Given the description of an element on the screen output the (x, y) to click on. 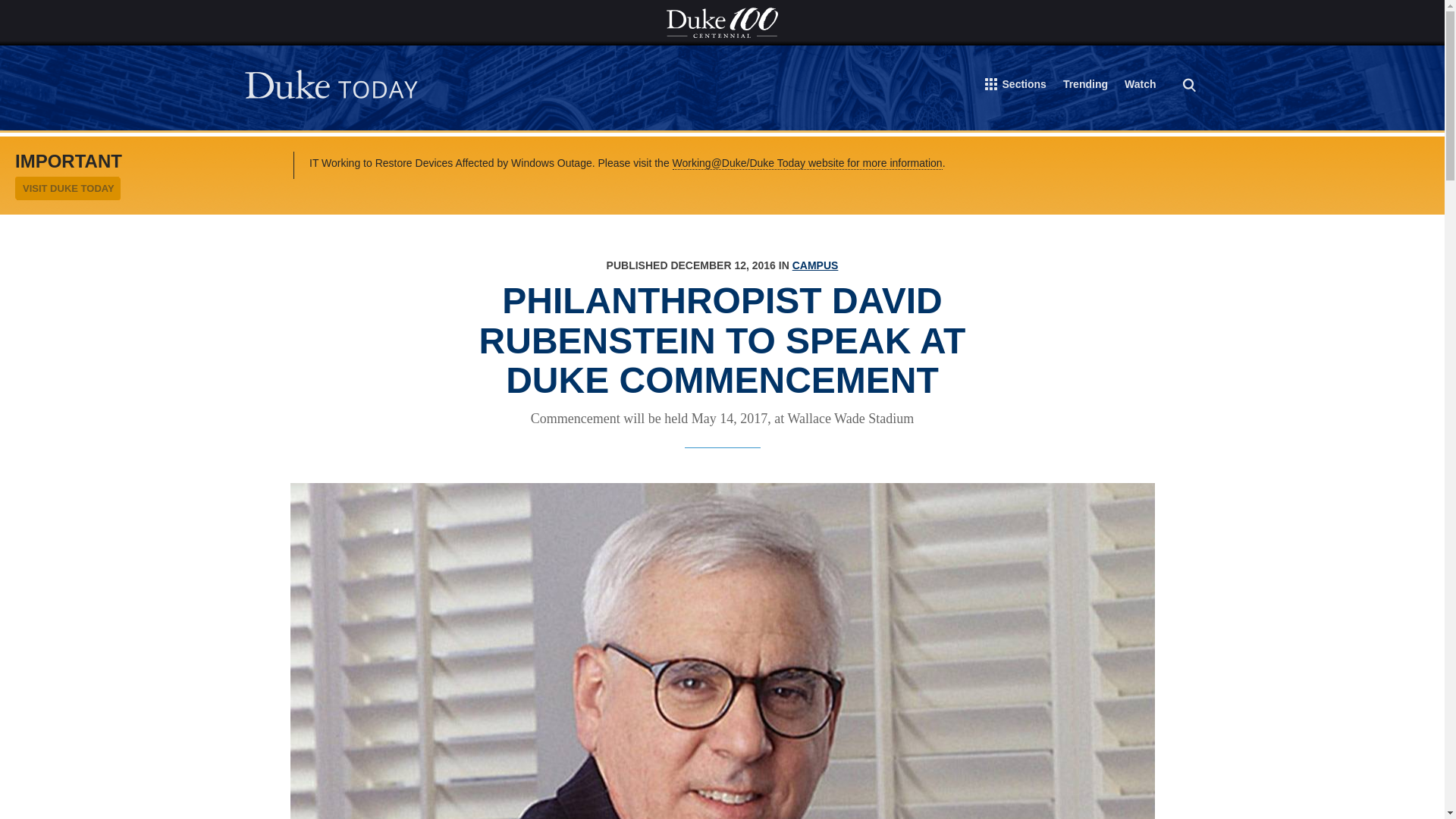
Trending (1085, 86)
Sections (1015, 87)
Watch (1140, 86)
